Given the description of an element on the screen output the (x, y) to click on. 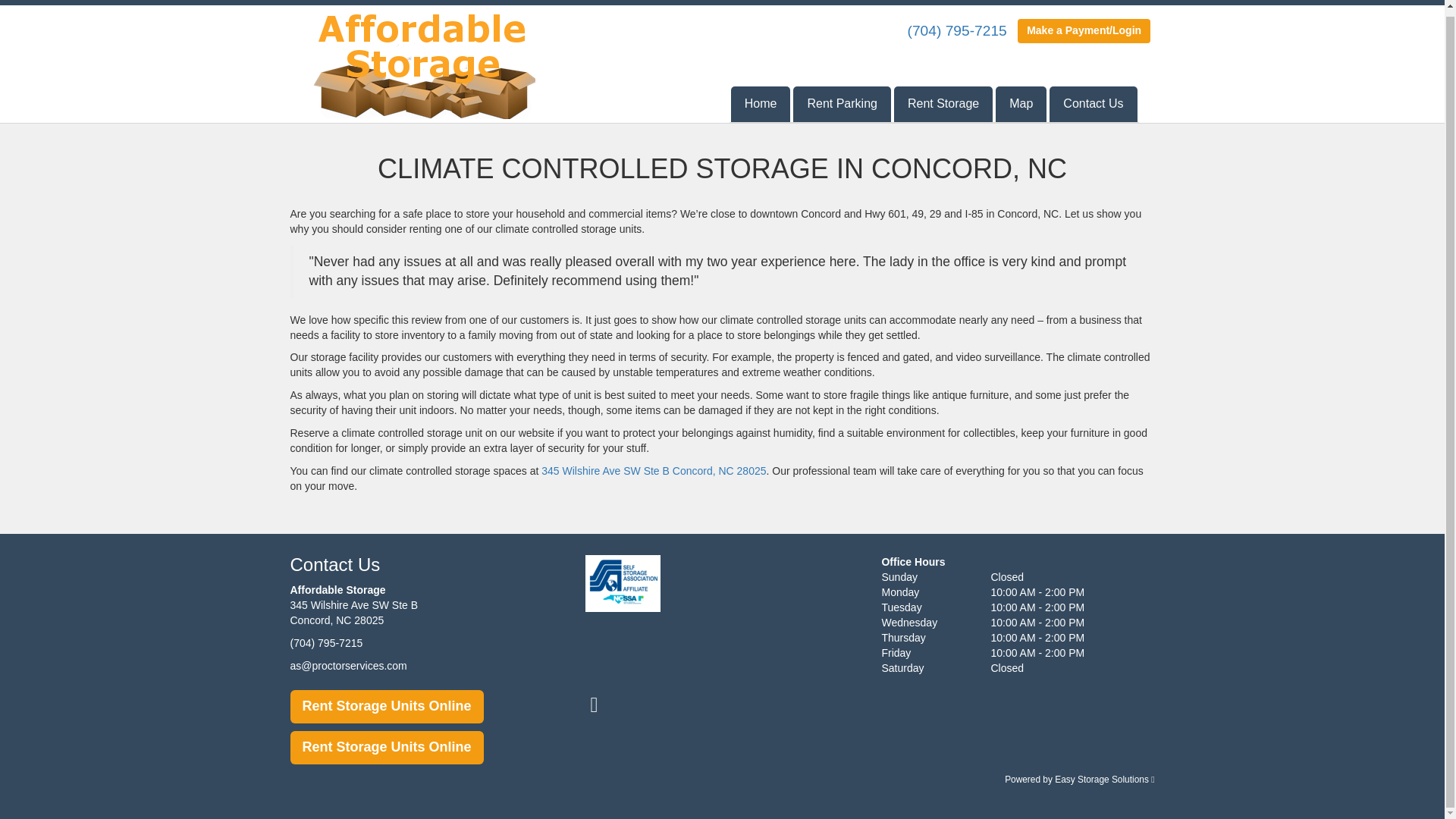
345 Wilshire Ave SW Ste B Concord, NC 28025 (653, 470)
Contact Us (1093, 99)
Home (760, 99)
Rent Parking (842, 99)
Rent Storage Units Online (386, 706)
Rent Storage (942, 99)
Rent Storage Units Online (386, 747)
Map (1020, 99)
Easy Storage Solutions (1104, 778)
